Given the description of an element on the screen output the (x, y) to click on. 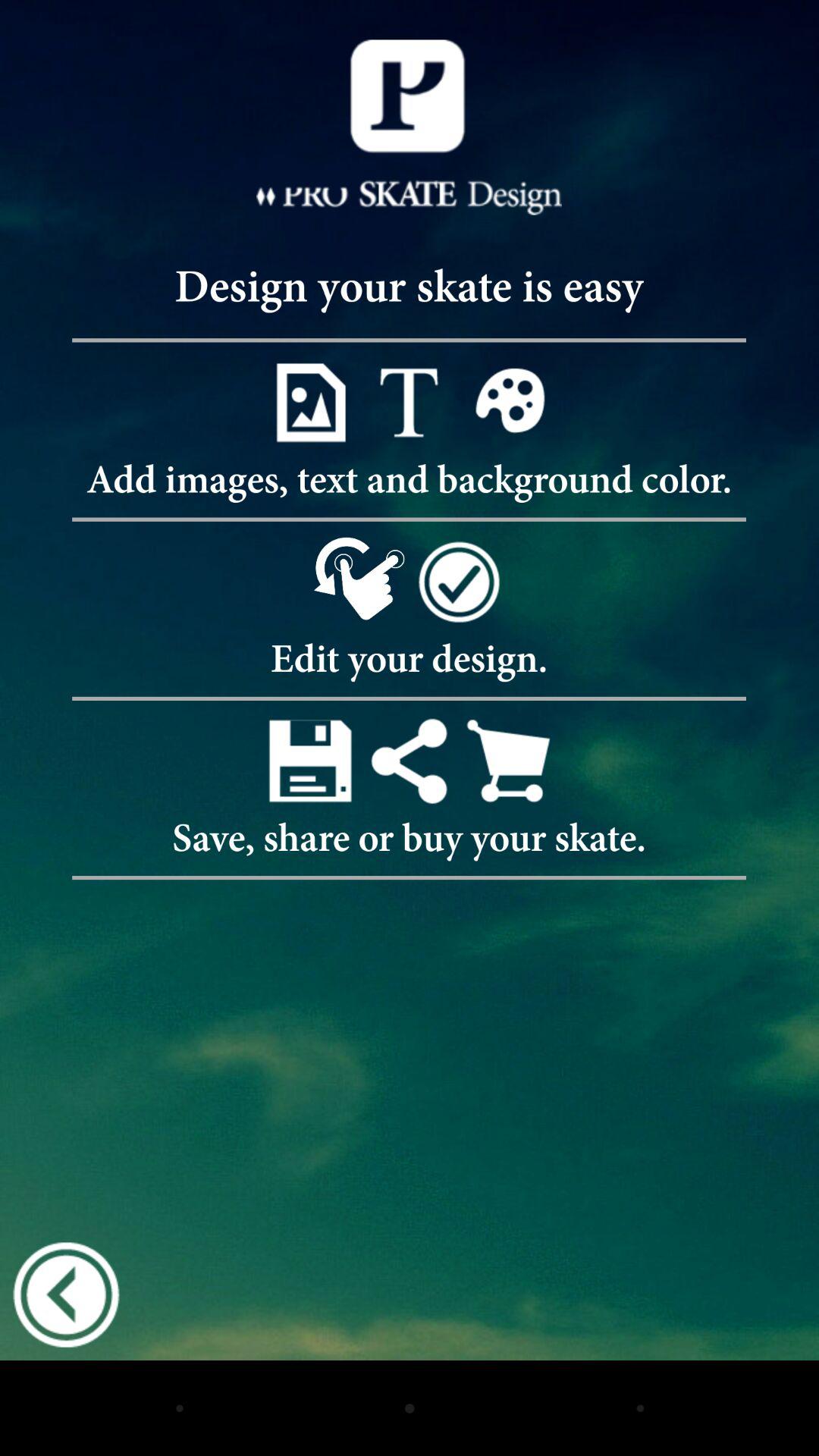
save to device (309, 760)
